Given the description of an element on the screen output the (x, y) to click on. 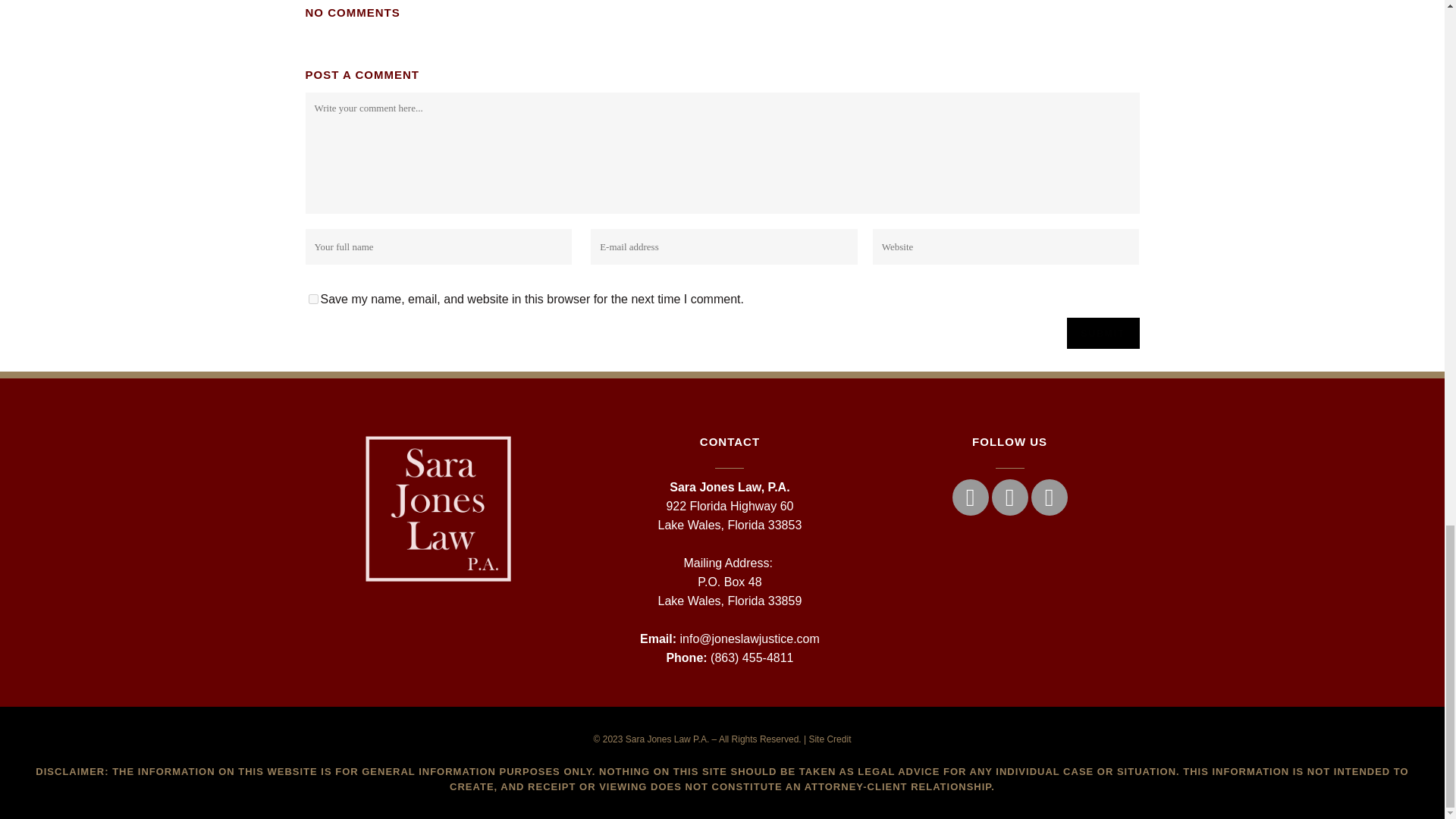
Twitter (1009, 497)
Site Credit (829, 738)
LinkedIn (1048, 497)
Facebook (970, 497)
Submit (1101, 332)
yes (312, 298)
Submit (1101, 332)
